Given the description of an element on the screen output the (x, y) to click on. 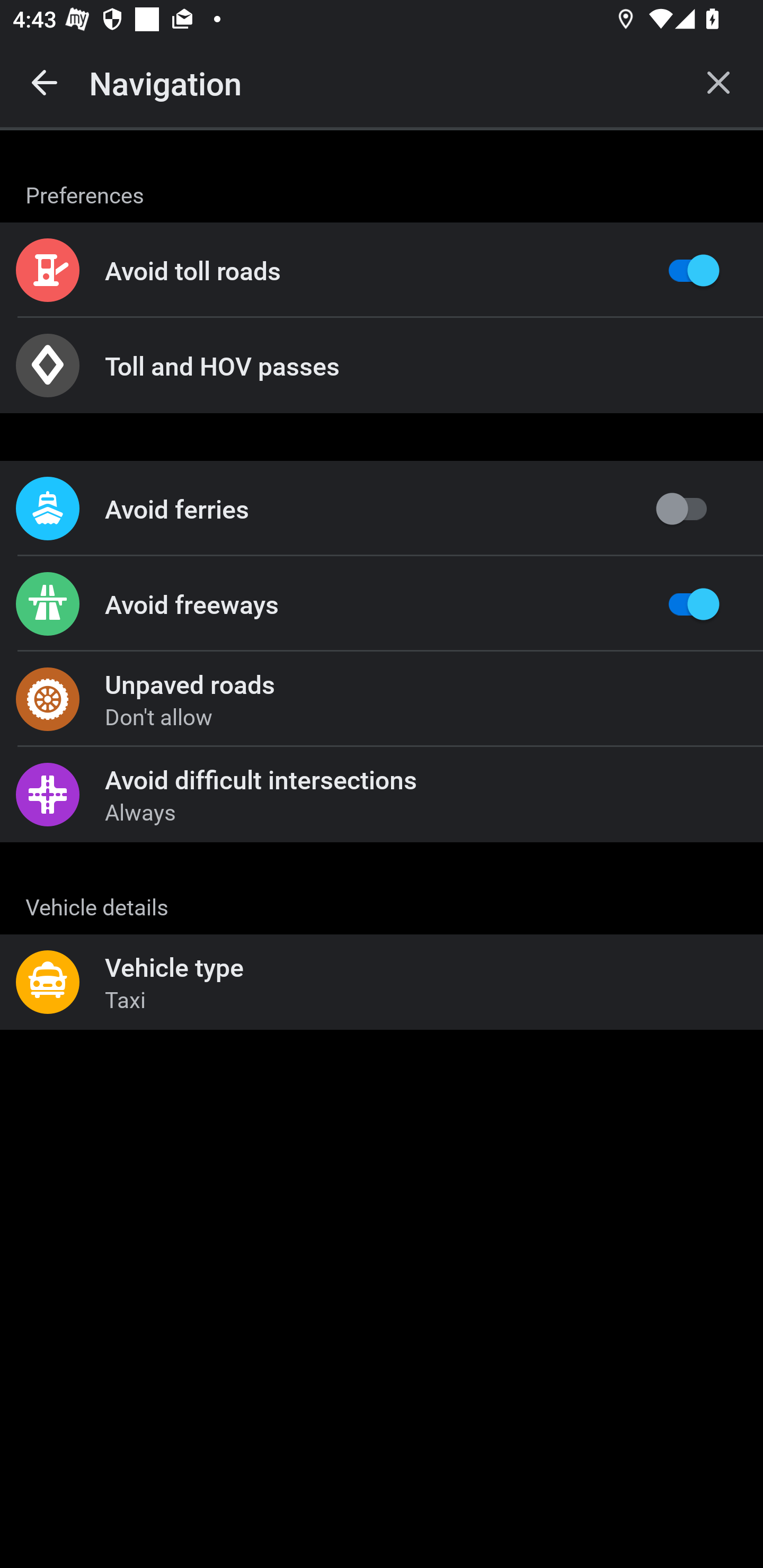
Avoid toll roads (381, 270)
Toll and HOV passes (381, 365)
Avoid ferries (381, 508)
Avoid freeways (381, 604)
Unpaved roads Don't allow (381, 699)
Avoid difficult intersections Always (381, 794)
ACTION_CELL_ICON Shut off ACTION_CELL_TEXT (381, 891)
Vehicle type Taxi (381, 982)
